Given the description of an element on the screen output the (x, y) to click on. 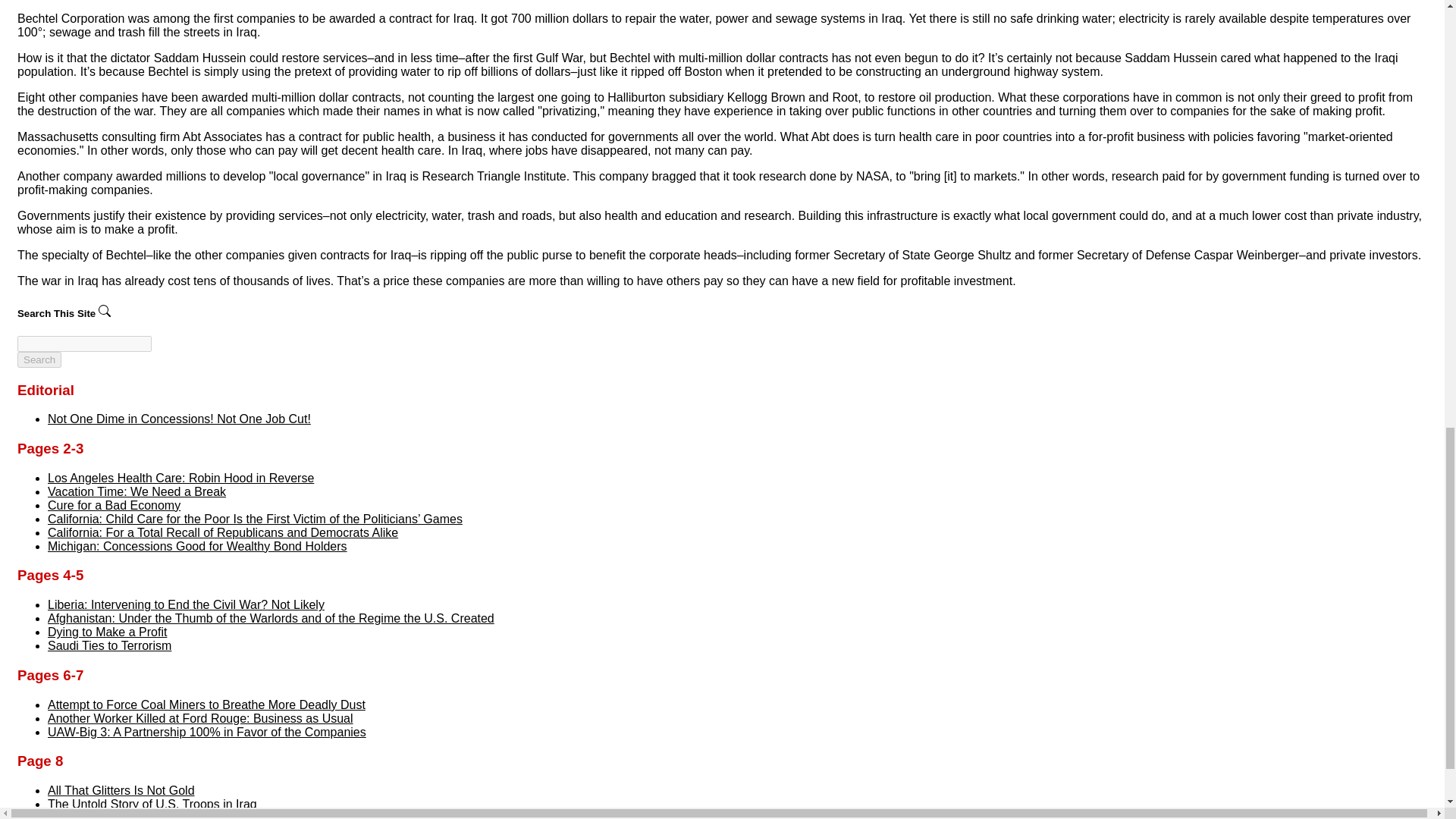
Not One Dime in Concessions! Not One Job Cut! (179, 418)
Vacation Time: We Need a Break (136, 491)
Michigan: Concessions Good for Wealthy Bond Holders (197, 545)
Search (39, 359)
Cure for a Bad Economy (114, 504)
Not One Dime in Concessions! Not One Job Cut! (179, 418)
Los Angeles Health Care: Robin Hood in Reverse (181, 477)
Liberia: Intervening to End the Civil War? Not Likely (186, 604)
